Given the description of an element on the screen output the (x, y) to click on. 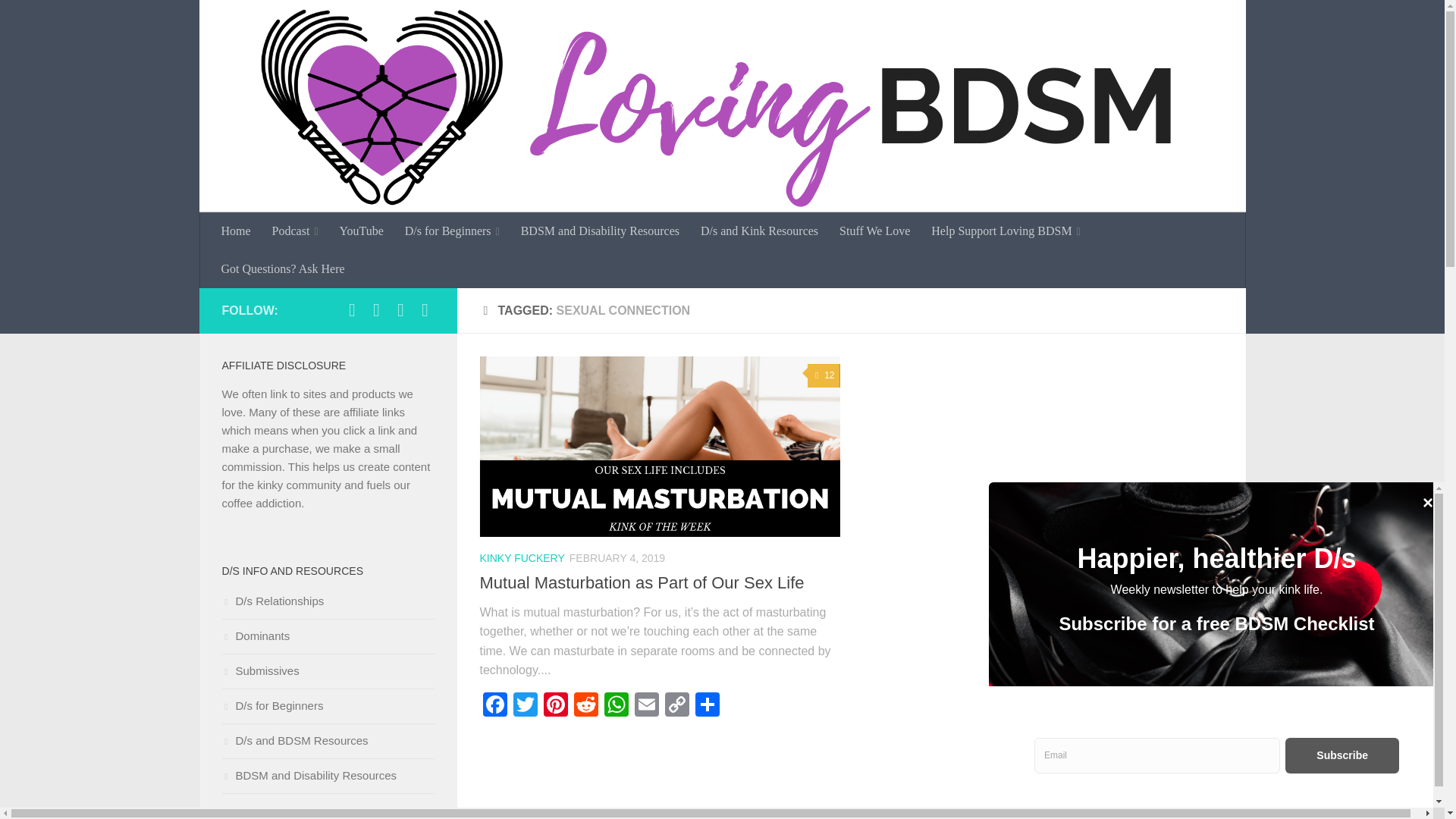
Stuff We Love (874, 231)
Podcast (295, 231)
Reddit (584, 706)
Follow us on Youtube (400, 310)
Pinterest (555, 706)
Email (645, 706)
YouTube (361, 231)
Permalink to Mutual Masturbation as Part of Our Sex Life (641, 582)
Twitter (524, 706)
Help Support Loving BDSM (1005, 231)
Home (236, 231)
Mutual Masturbation as Part of Our Sex Life (641, 582)
Follow us on Instagram (375, 310)
Follow us on Patreon (423, 310)
KINKY FUCKERY (521, 558)
